Given the description of an element on the screen output the (x, y) to click on. 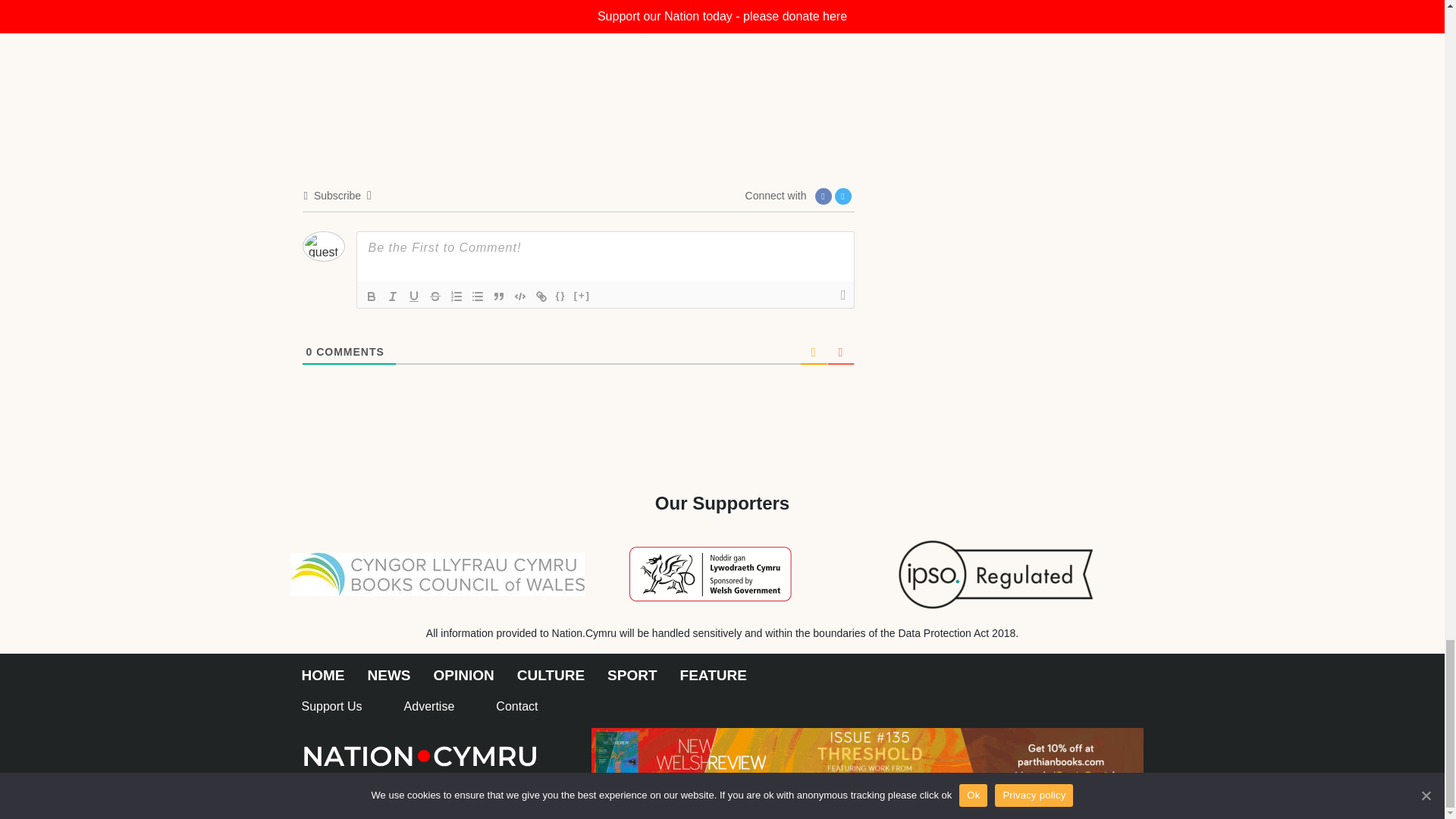
Italic (392, 296)
Unordered List (477, 296)
ordered (456, 296)
Spoiler (582, 296)
Link (541, 296)
Source Code (560, 296)
Blockquote (498, 296)
Strike (435, 296)
bullet (477, 296)
Ordered List (456, 296)
Bold (371, 296)
Code Block (520, 296)
Underline (414, 296)
